Given the description of an element on the screen output the (x, y) to click on. 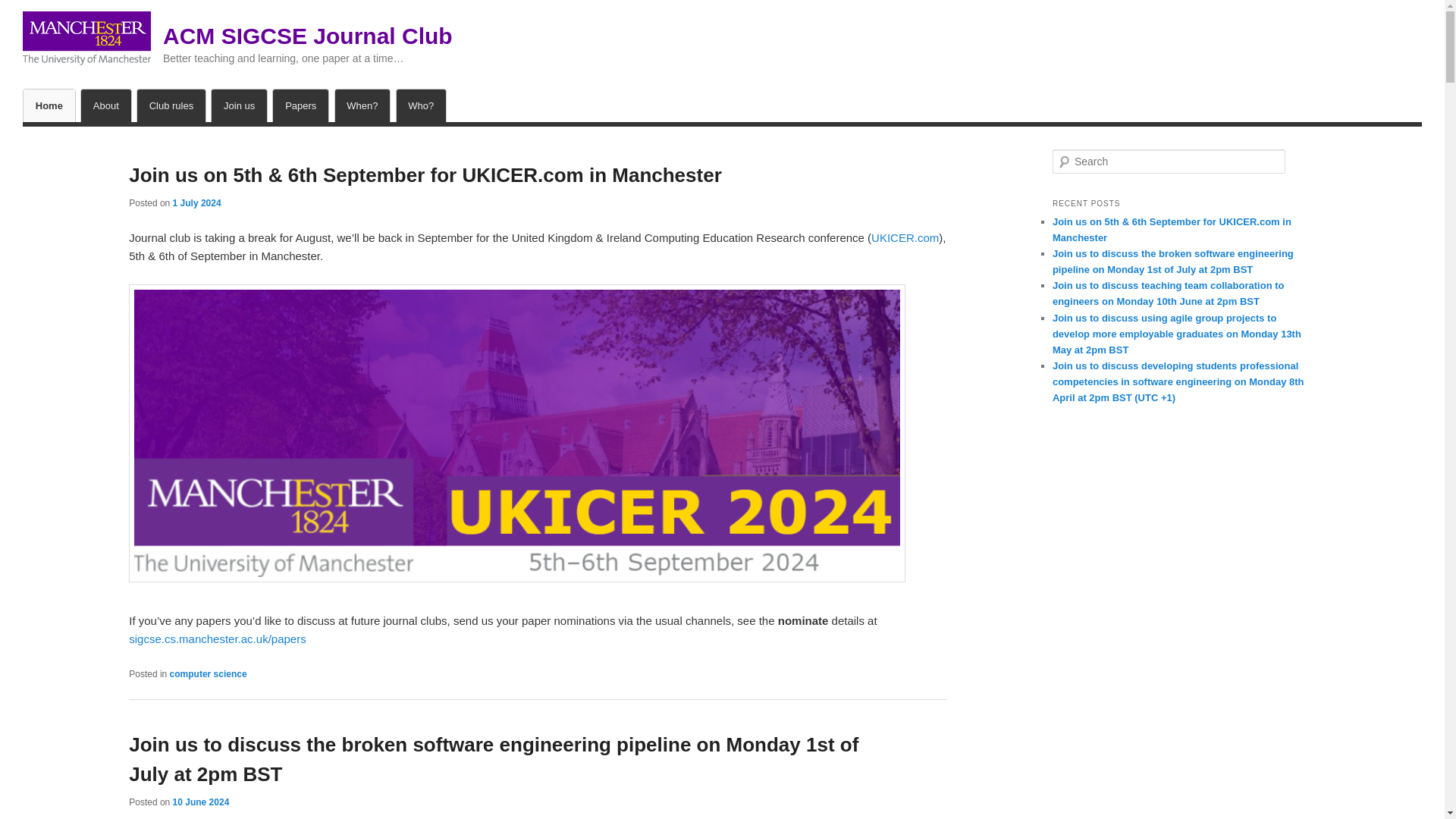
Papers (301, 105)
When? (362, 105)
1 July 2024 (197, 203)
10 June 2024 (201, 801)
UKICER.com (904, 237)
Join us (238, 105)
computer science (208, 674)
Who? (420, 105)
